Given the description of an element on the screen output the (x, y) to click on. 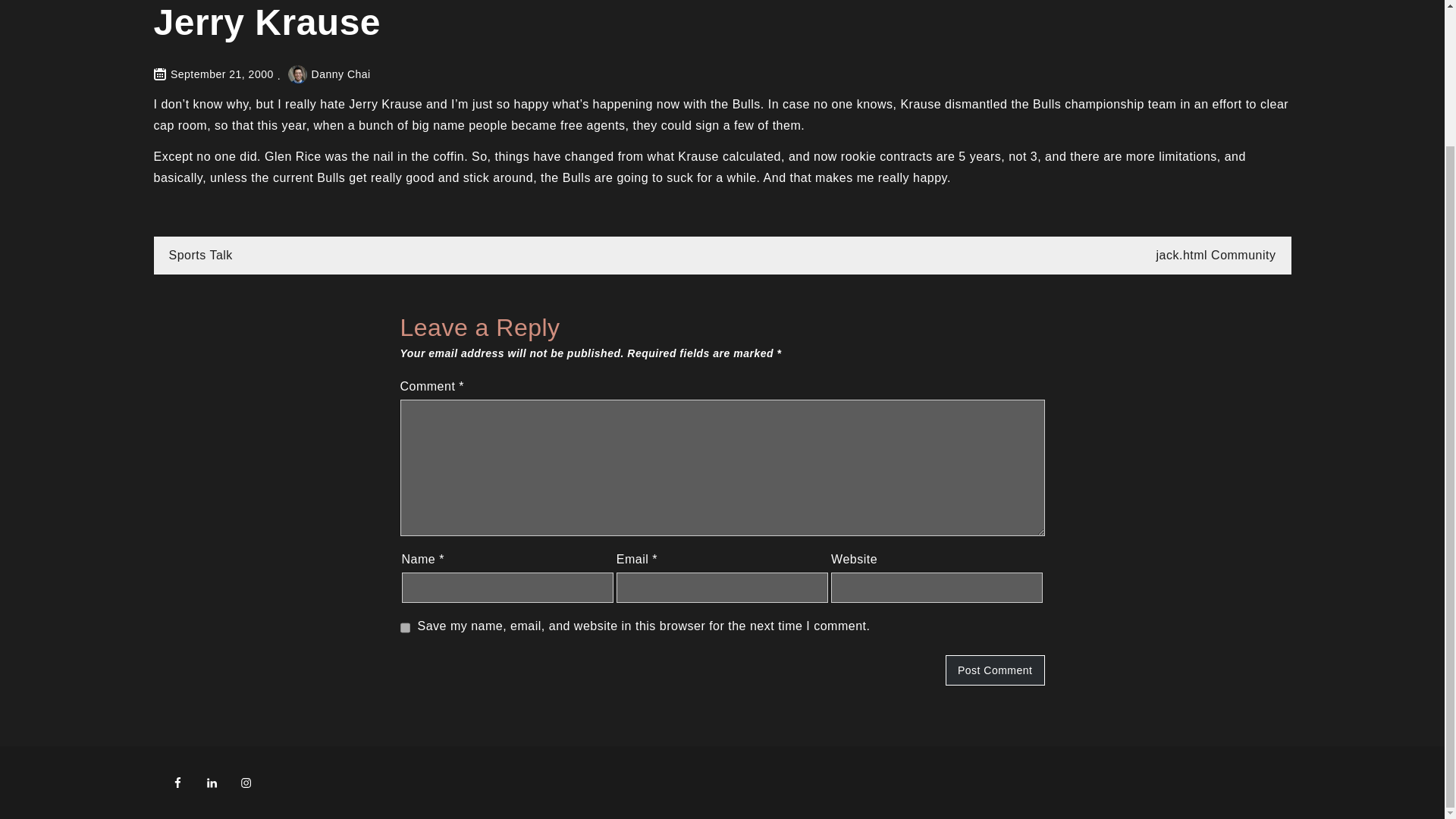
Sports Talk (199, 254)
jack.html Community (1216, 254)
Post Comment (994, 670)
Post Comment (994, 670)
Danny Chai (329, 73)
September 21, 2000 (221, 73)
